Given the description of an element on the screen output the (x, y) to click on. 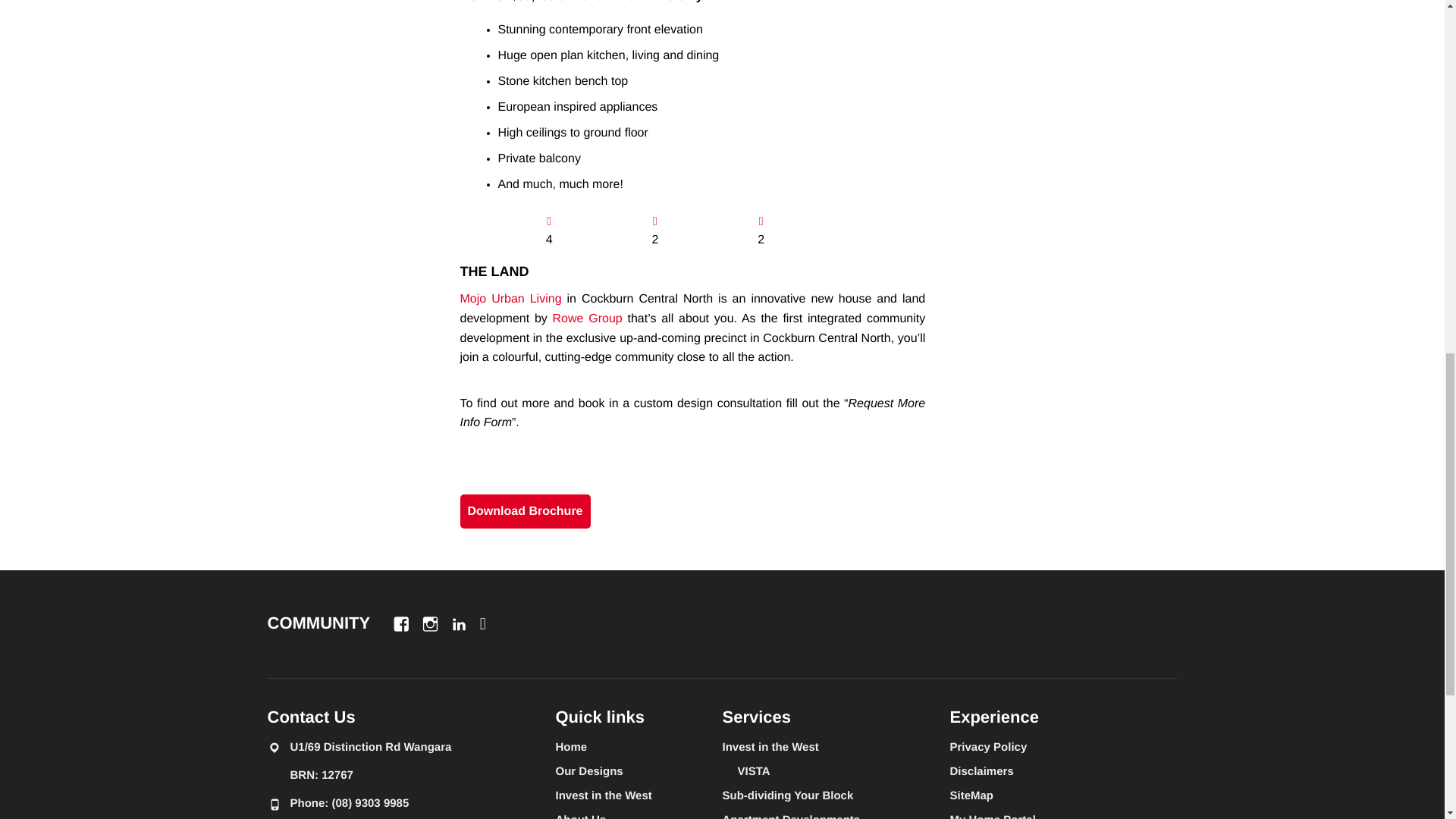
Home (570, 746)
Our Designs (588, 770)
Mojo Urban Living (510, 298)
Invest in the West (602, 794)
Download Brochure (524, 511)
Rowe Group (588, 318)
